Given the description of an element on the screen output the (x, y) to click on. 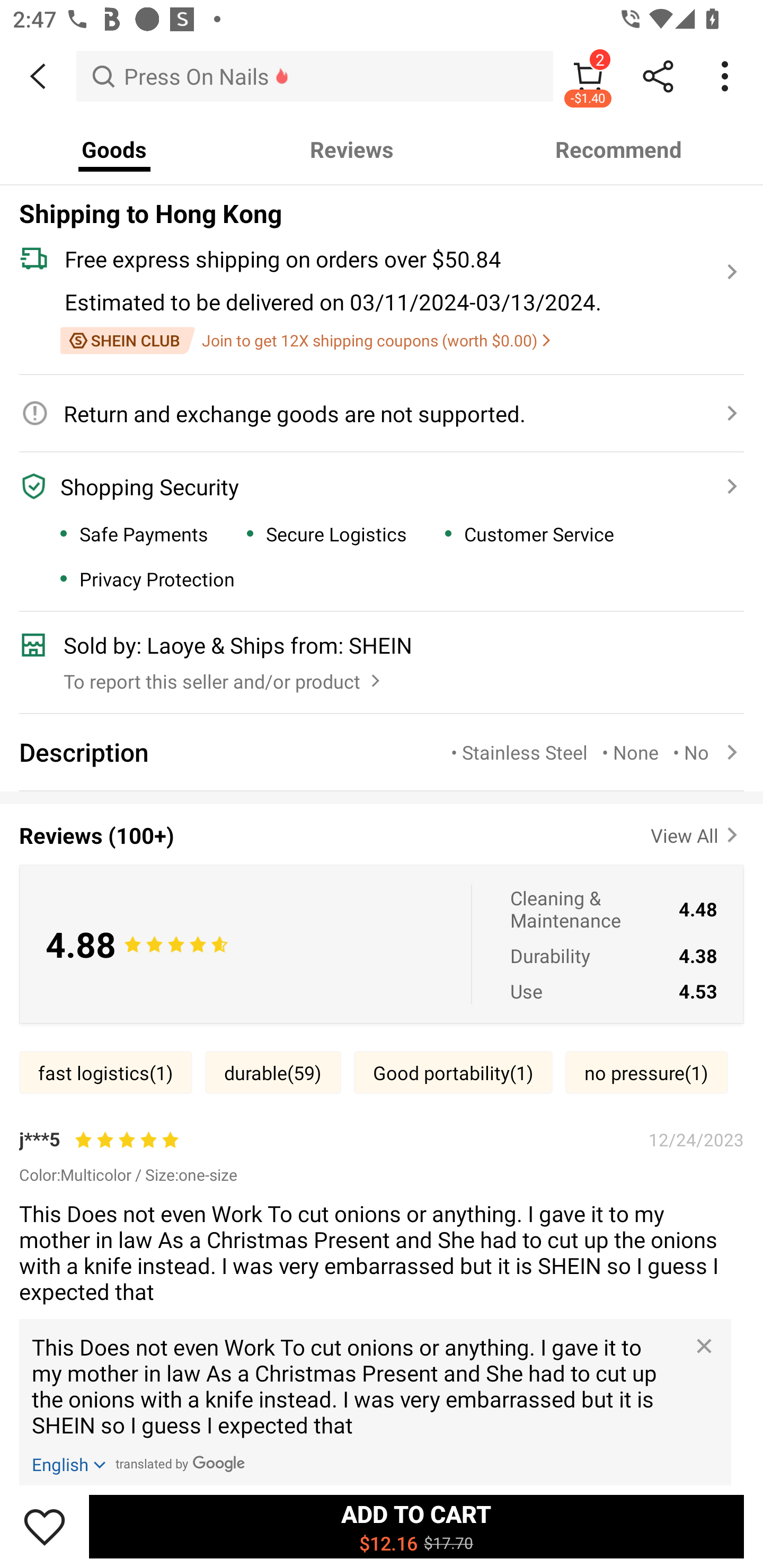
BACK (38, 75)
2 -$1.40 (588, 75)
Press On Nails (314, 75)
Goods (114, 149)
Reviews (351, 149)
Recommend (618, 149)
Join to get 12X shipping coupons (worth $0.00) (305, 340)
Return and exchange goods are not supported. (370, 412)
To report this seller and/or product   (224, 677)
fast logistics(1) (105, 1072)
durable(59) (273, 1072)
Good portability(1) (453, 1072)
no pressure(1) (646, 1072)
English Translate to... (70, 1463)
ADD TO CART $12.16 $17.70 (416, 1526)
Save (44, 1526)
